Given the description of an element on the screen output the (x, y) to click on. 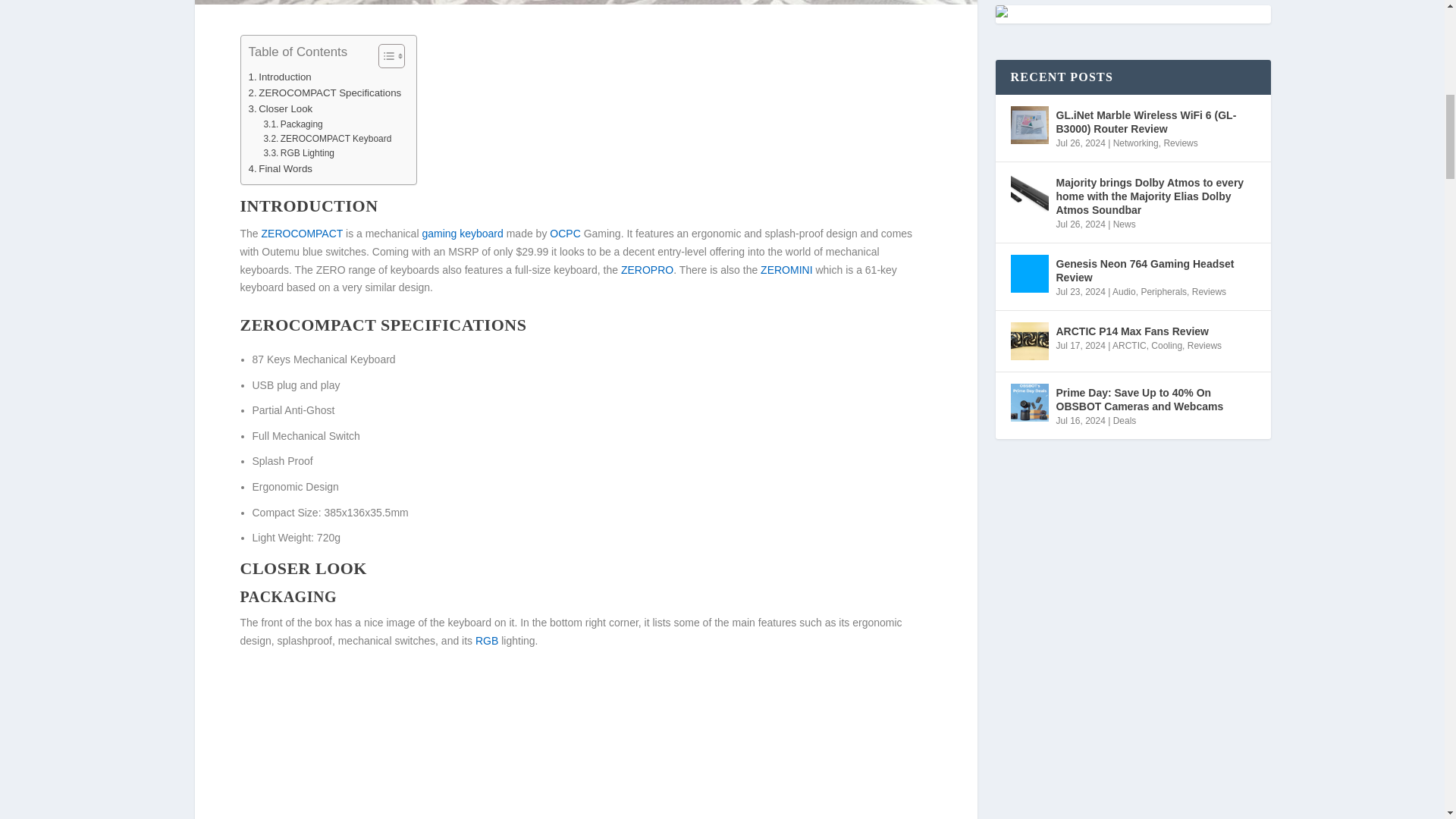
Closer Look (280, 108)
Packaging (292, 124)
ZEROCOMPACT Keyboard (327, 138)
Final Words (280, 168)
ZEROCOMPACT Specifications (324, 92)
Introduction (279, 76)
RGB Lighting (298, 153)
